Given the description of an element on the screen output the (x, y) to click on. 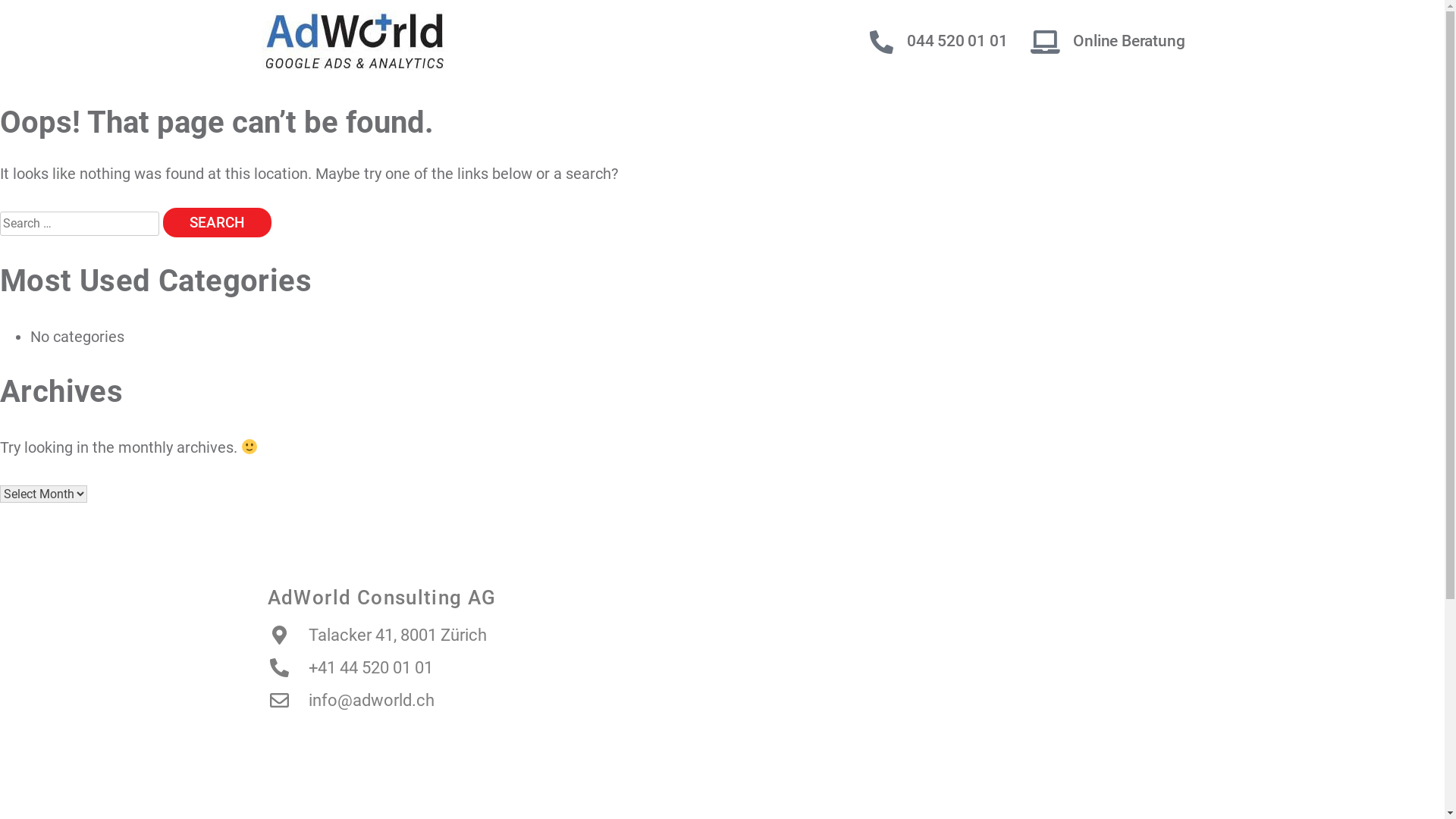
Search Element type: text (217, 222)
info@adworld.ch Element type: text (349, 699)
+41 44 520 01 01 Element type: text (349, 667)
044 520 01 01 Element type: text (956, 40)
Online Beratung Element type: text (1128, 40)
